Given the description of an element on the screen output the (x, y) to click on. 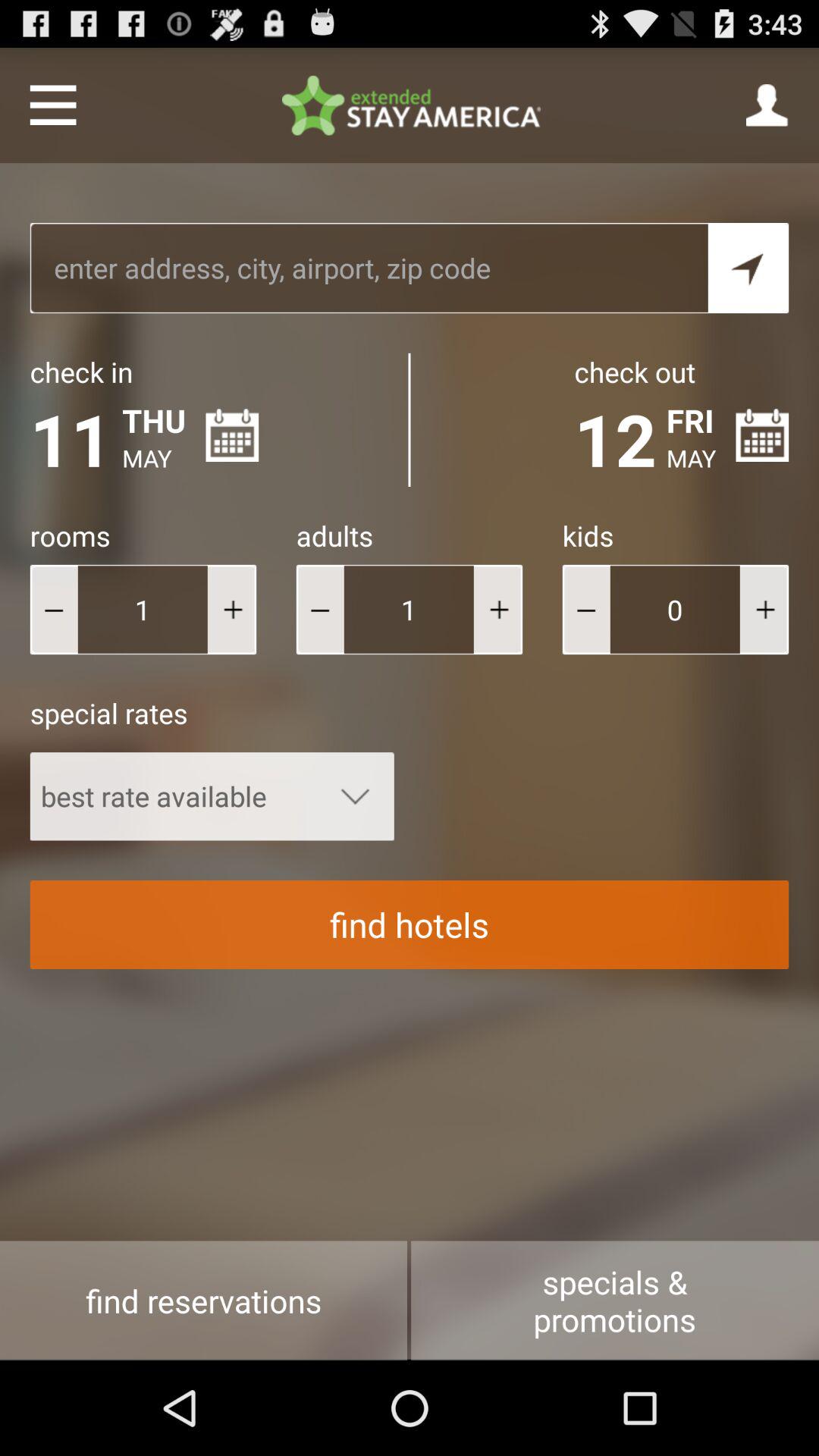
view calendar for check in date (231, 434)
